Given the description of an element on the screen output the (x, y) to click on. 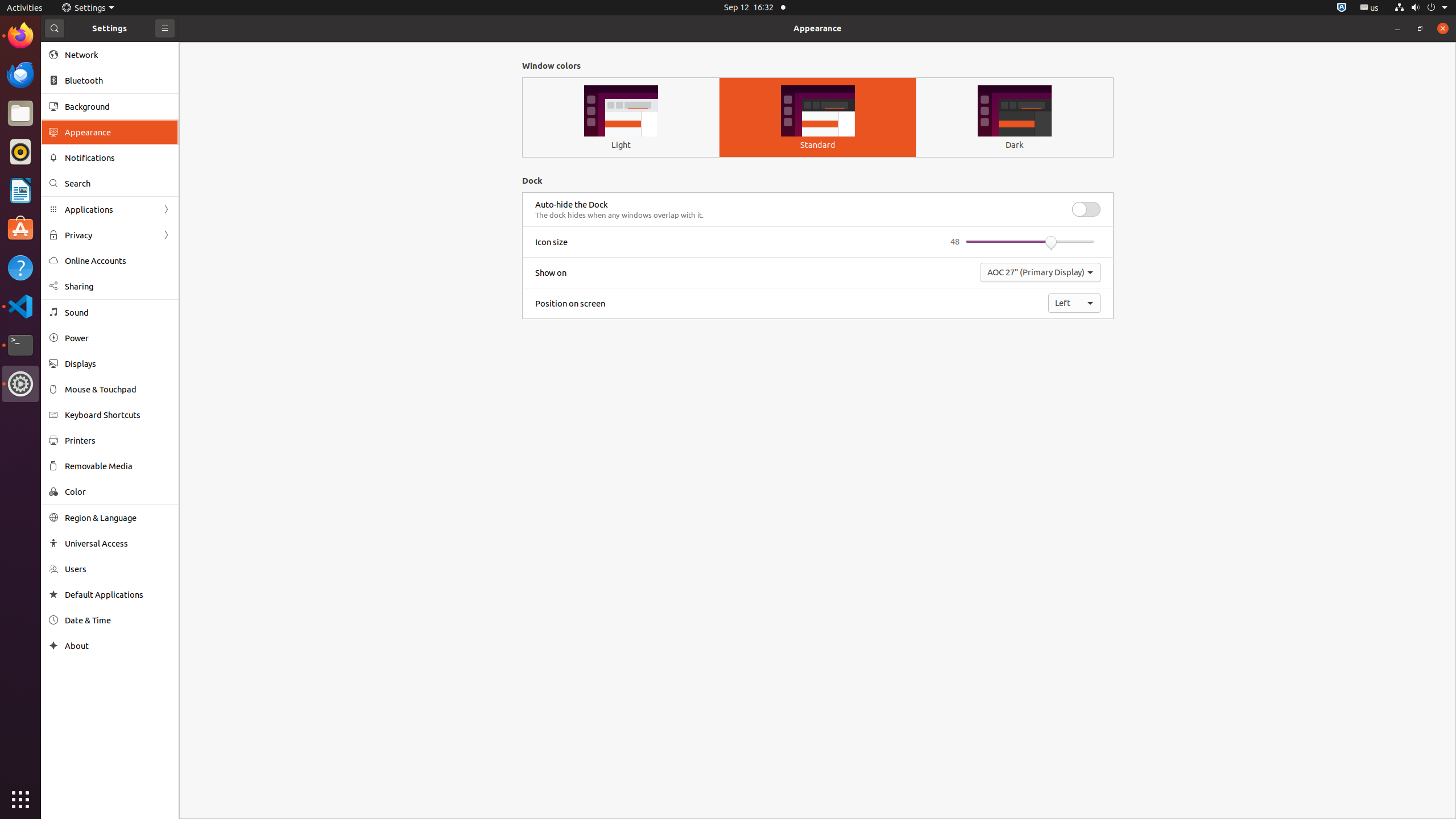
Show on Element type: label (550, 272)
Standard Element type: label (817, 144)
Removable Media Element type: label (117, 465)
Users Element type: label (117, 568)
